Given the description of an element on the screen output the (x, y) to click on. 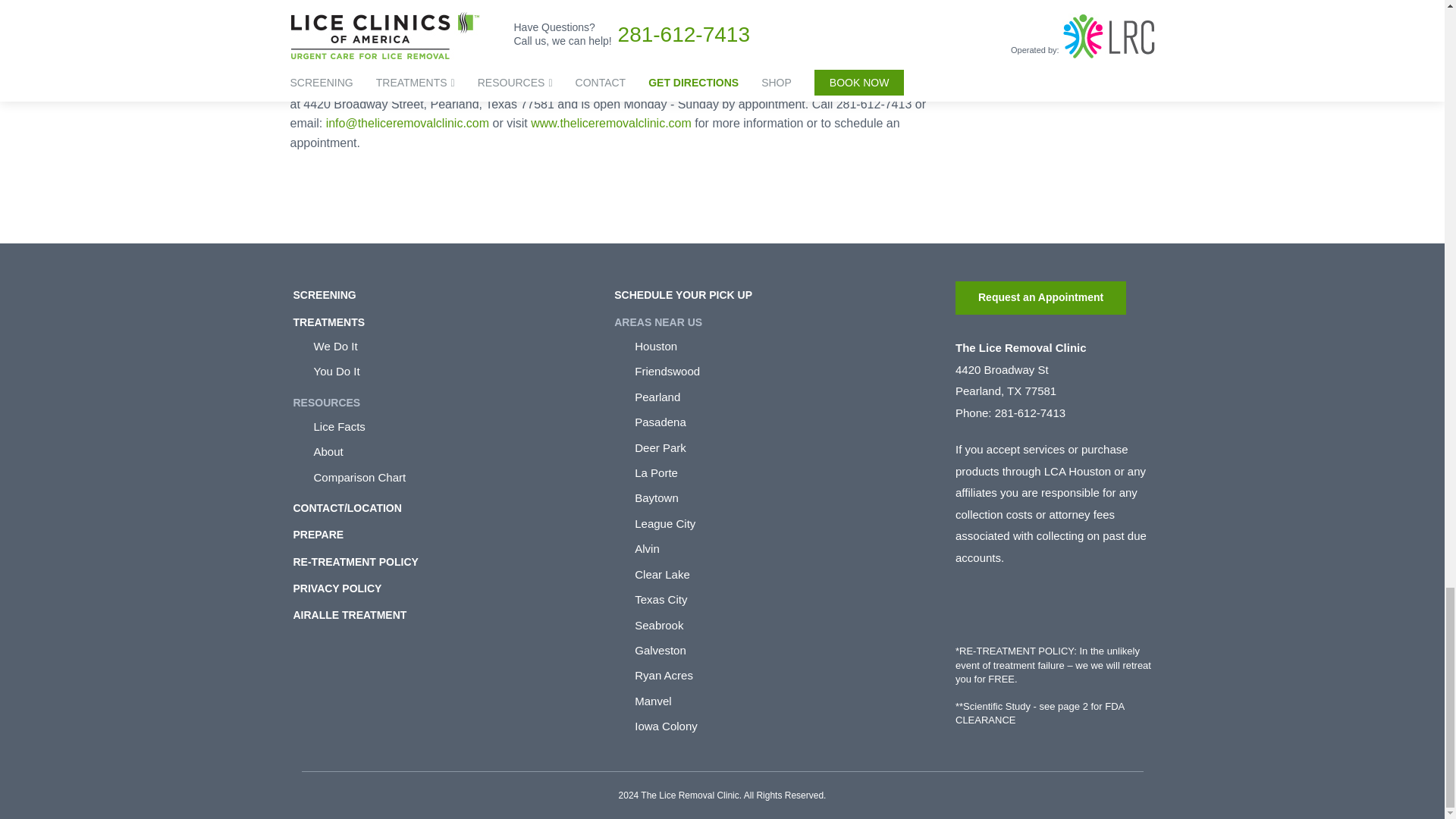
RESOURCES (325, 402)
About (453, 451)
TREATMENTS (328, 322)
professionals (508, 10)
Comparison Chart (453, 477)
You Do It (453, 371)
www.theliceremovalclinic.com (611, 123)
PRIVACY POLICY (336, 588)
Lice Facts (453, 426)
We Do It (453, 345)
